Given the description of an element on the screen output the (x, y) to click on. 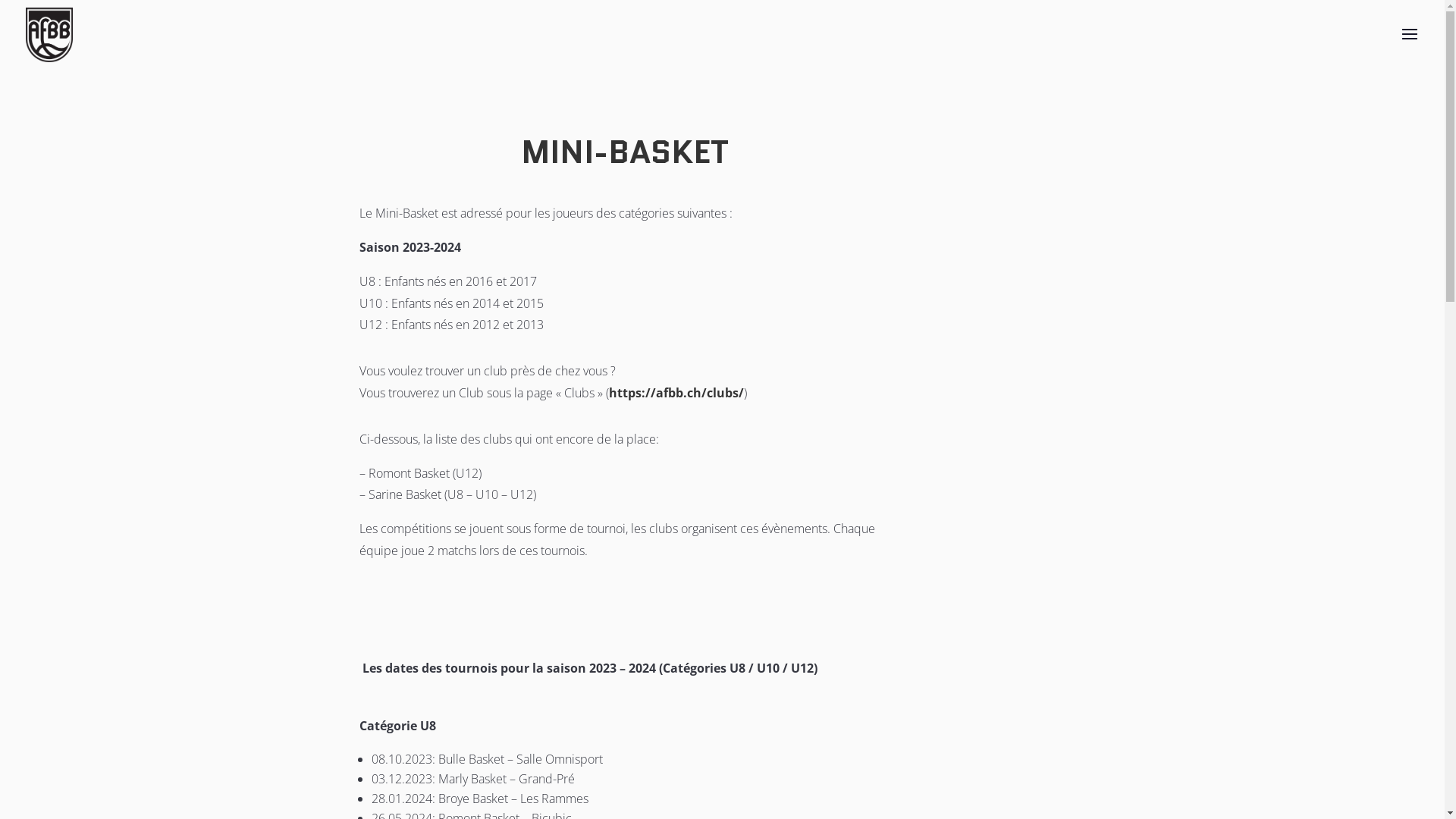
https://afbb.ch/clubs/ Element type: text (675, 392)
